Given the description of an element on the screen output the (x, y) to click on. 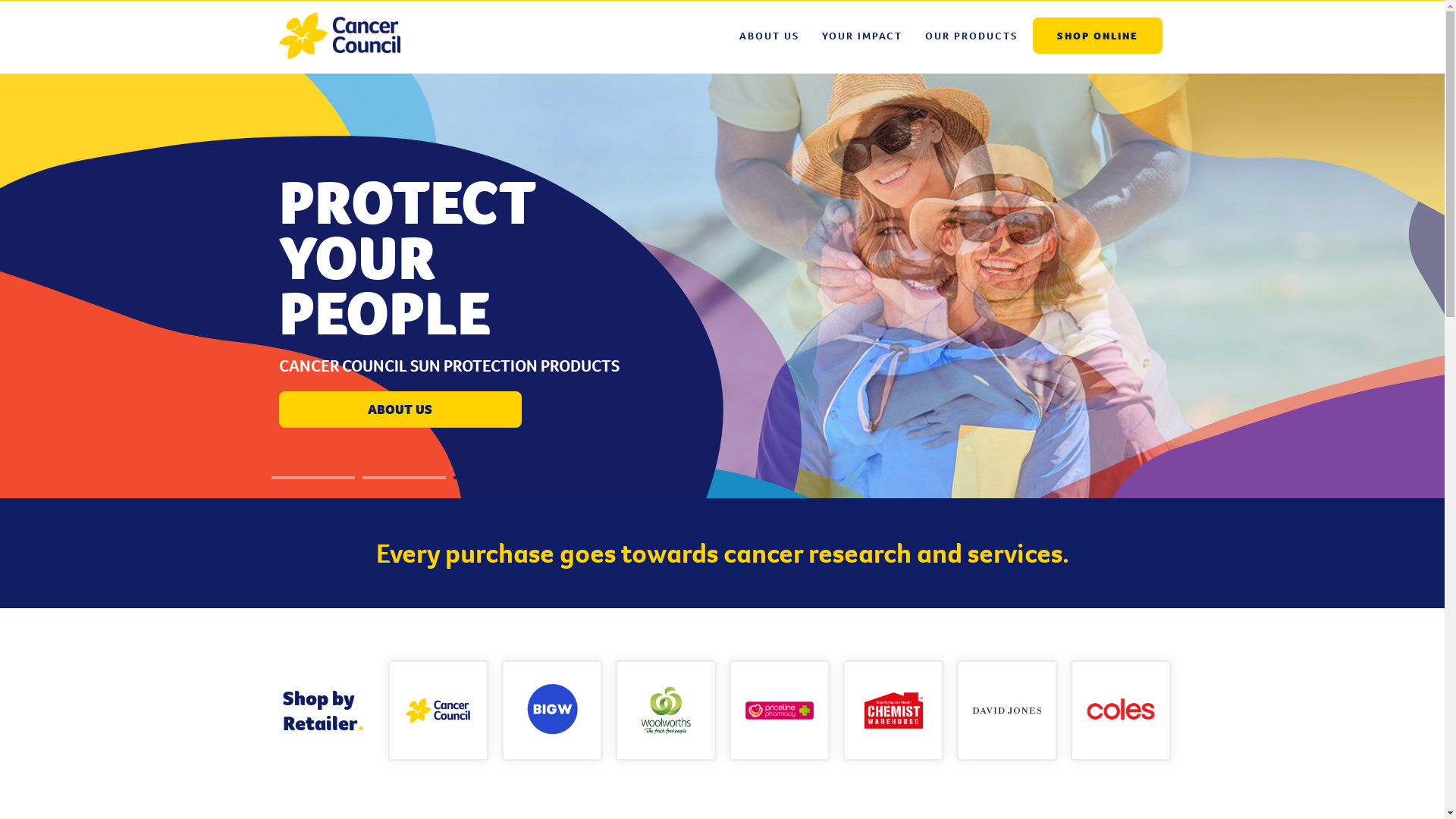
ABOUT US Element type: text (769, 35)
FIND YOUR NEAREST STOCKIST Element type: text (400, 409)
OUR PRODUCTS Element type: text (970, 35)
SHOP ONLINE Element type: text (1097, 35)
YOUR IMPACT Element type: text (861, 35)
